Given the description of an element on the screen output the (x, y) to click on. 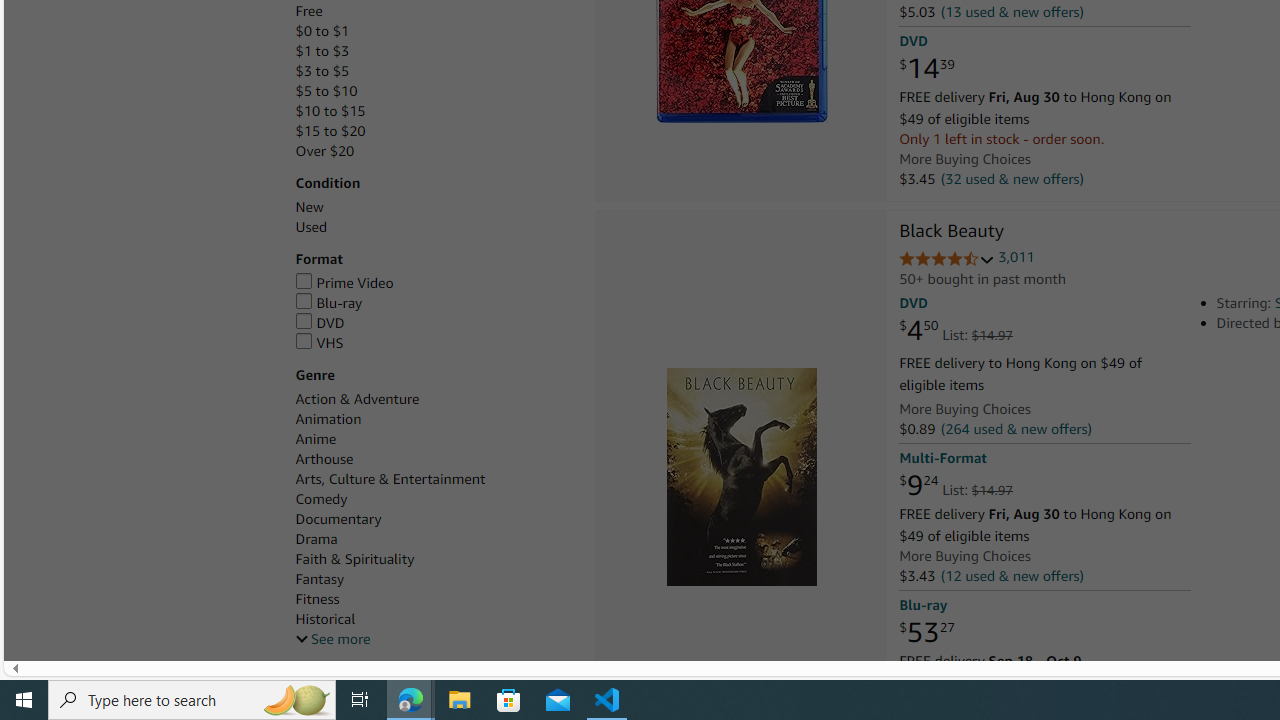
Drama (315, 538)
See more, Genre (332, 639)
Blu-ray (328, 303)
Comedy (434, 499)
DVD (319, 322)
Black Beauty (951, 232)
Used (310, 227)
Drama (434, 539)
VHS (434, 343)
(13 used & new offers) (1011, 12)
Animation (328, 419)
(264 used & new offers) (1015, 429)
Used (434, 227)
Action & Adventure (434, 399)
